Given the description of an element on the screen output the (x, y) to click on. 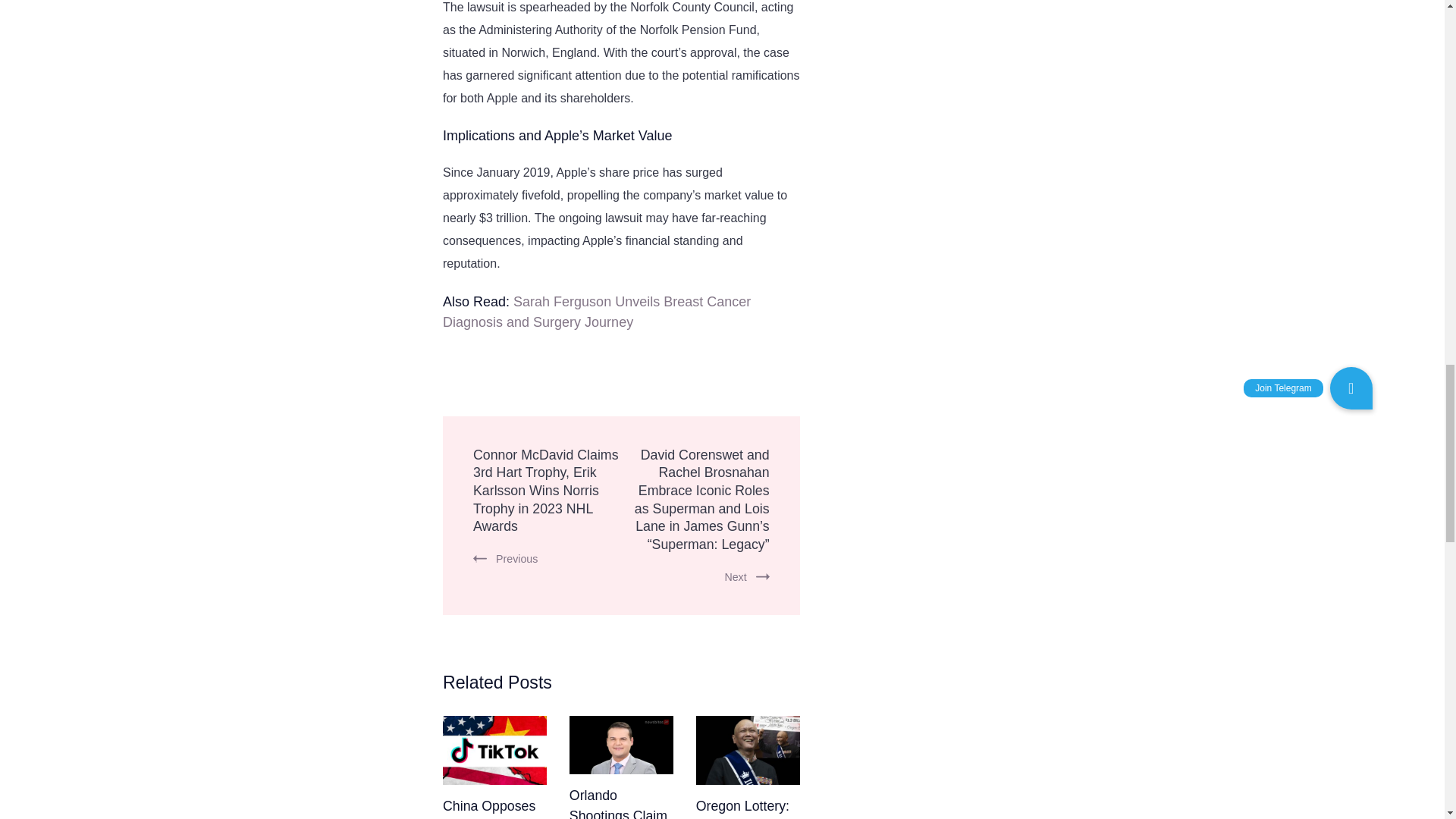
Previous (505, 558)
Next (745, 576)
